Given the description of an element on the screen output the (x, y) to click on. 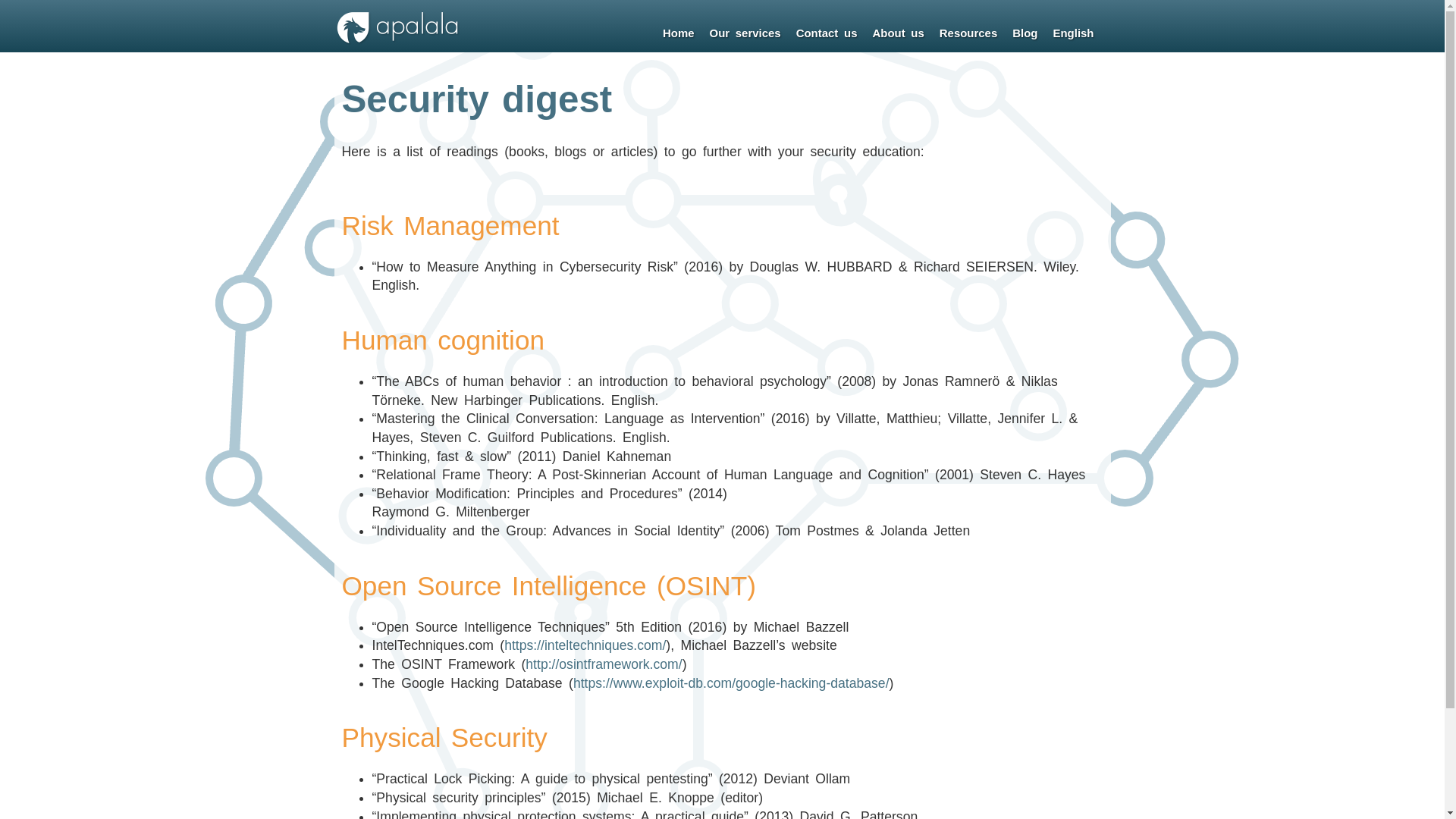
English Element type: text (1072, 33)
https://www.exploit-db.com/google-hacking-database/ Element type: text (731, 682)
Home Element type: text (678, 33)
Apalala srl Element type: hover (396, 41)
http://osintframework.com/ Element type: text (603, 663)
About us Element type: text (897, 33)
Contact us Element type: text (826, 33)
Our services Element type: text (745, 33)
Resources Element type: text (967, 33)
https://inteltechniques.com/ Element type: text (584, 644)
Blog Element type: text (1024, 33)
